Given the description of an element on the screen output the (x, y) to click on. 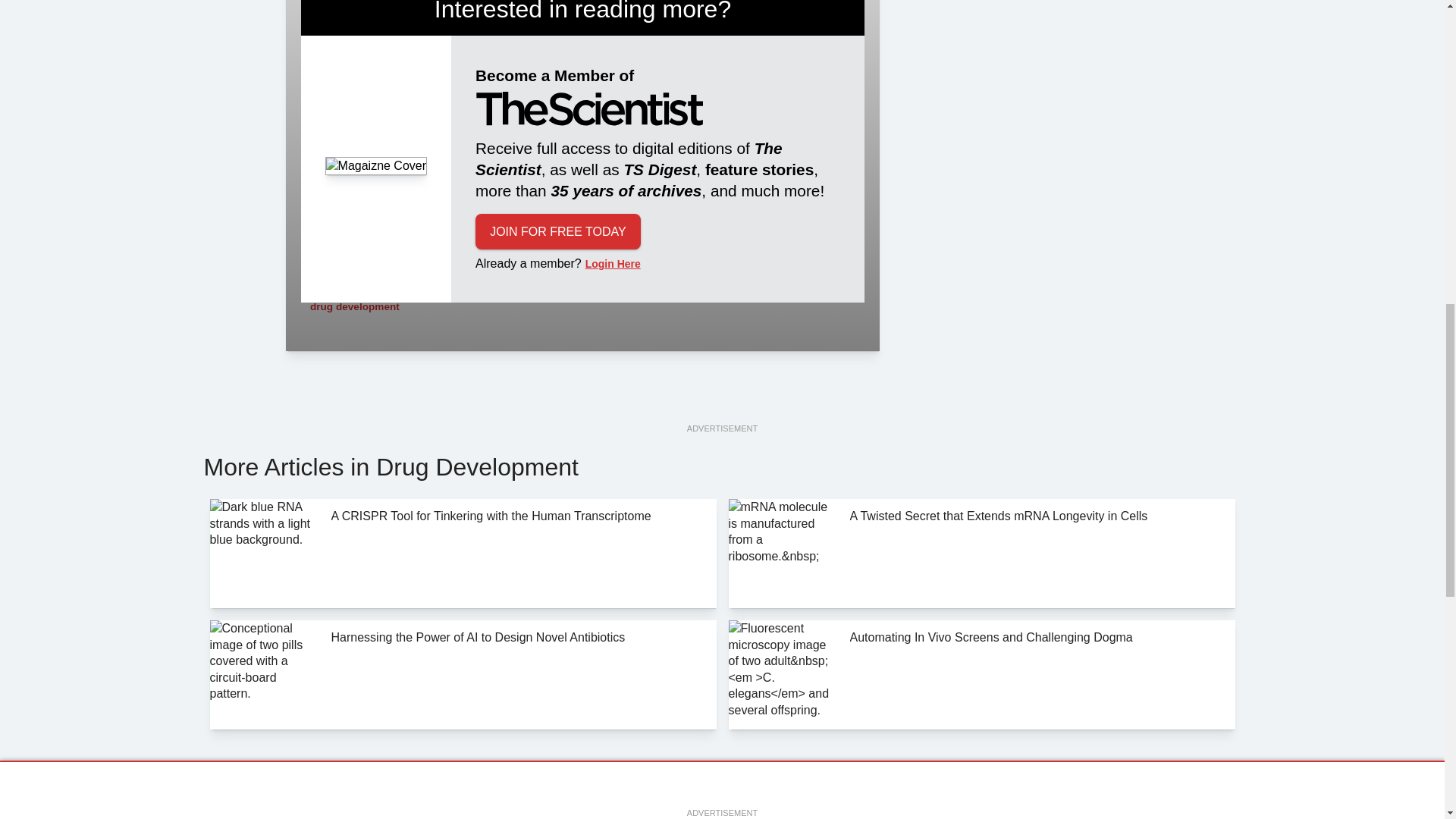
Magaizne Cover (376, 166)
Dark blue RNA strands with a light blue background. (263, 553)
